Given the description of an element on the screen output the (x, y) to click on. 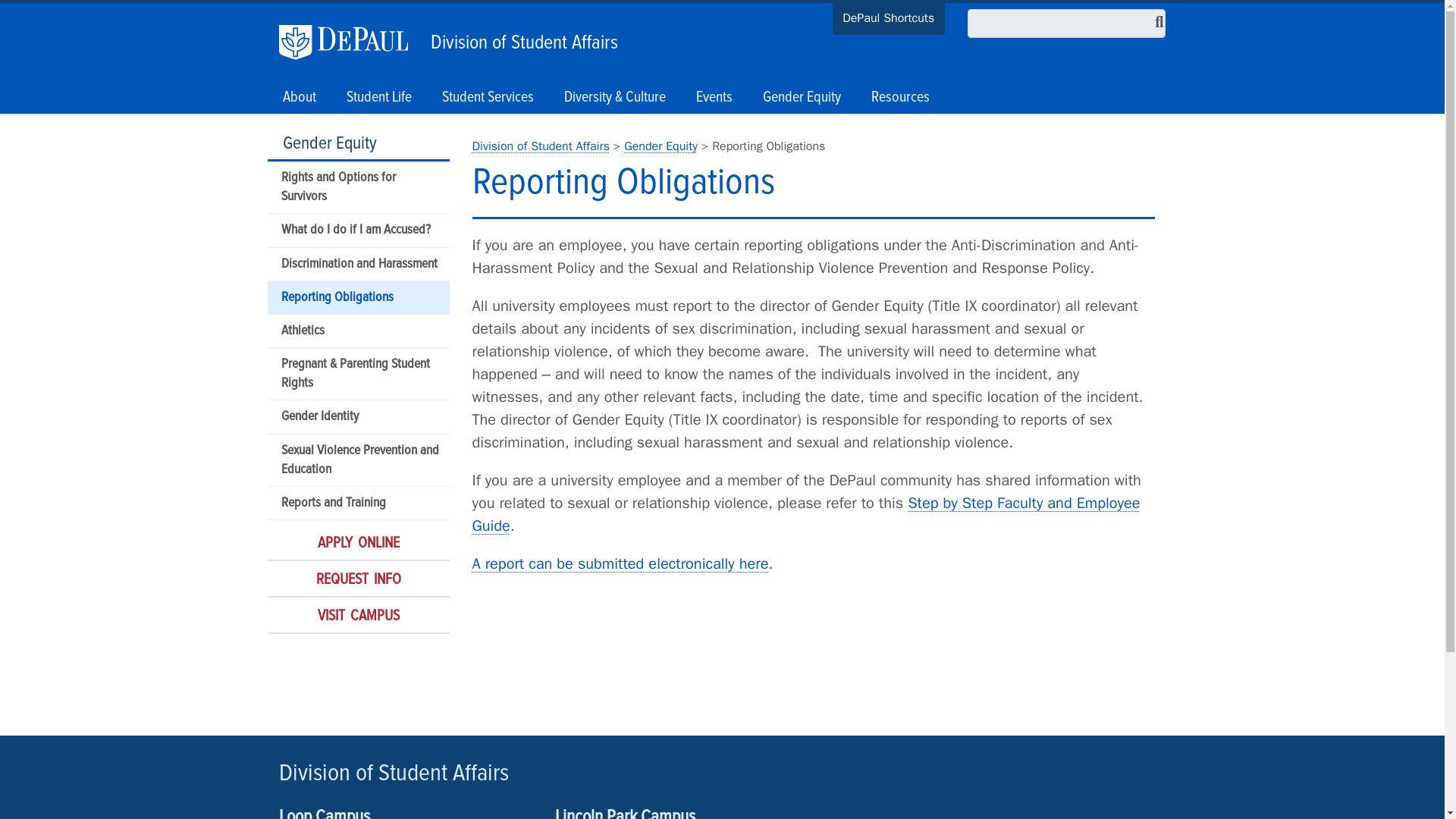
DePaul University Division of Student Affairs (539, 145)
DePaul University (351, 42)
Division of Student Affairs (520, 39)
DePaul Shortcuts (888, 20)
